Given the description of an element on the screen output the (x, y) to click on. 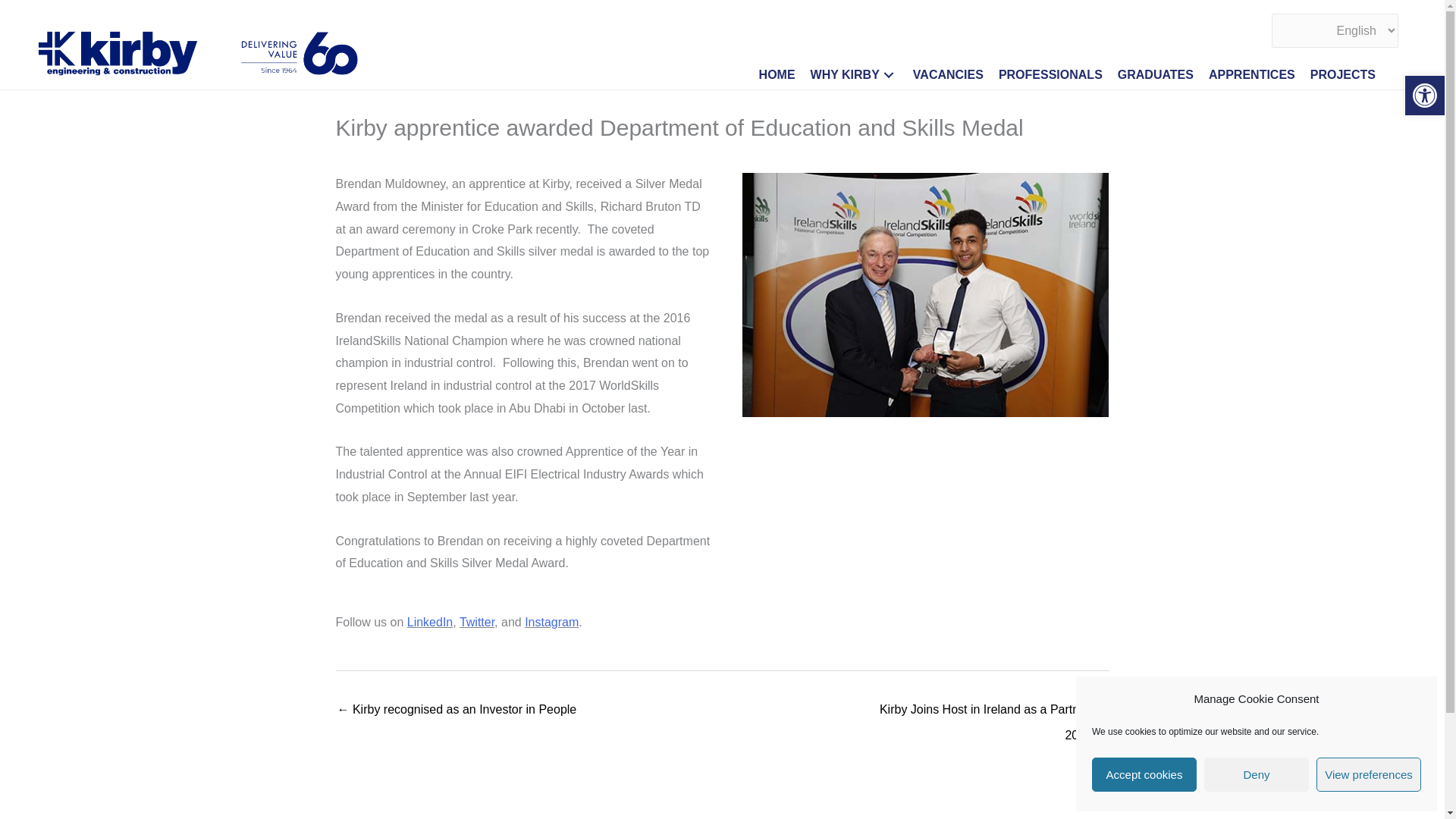
Twitter (477, 621)
PROFESSIONALS (1051, 74)
VACANCIES (949, 74)
View preferences (1368, 774)
Deny (1256, 774)
APPRENTICES (1254, 74)
WHY KIRBY (855, 74)
Accept cookies (1144, 774)
LinkedIn (429, 621)
